Given the description of an element on the screen output the (x, y) to click on. 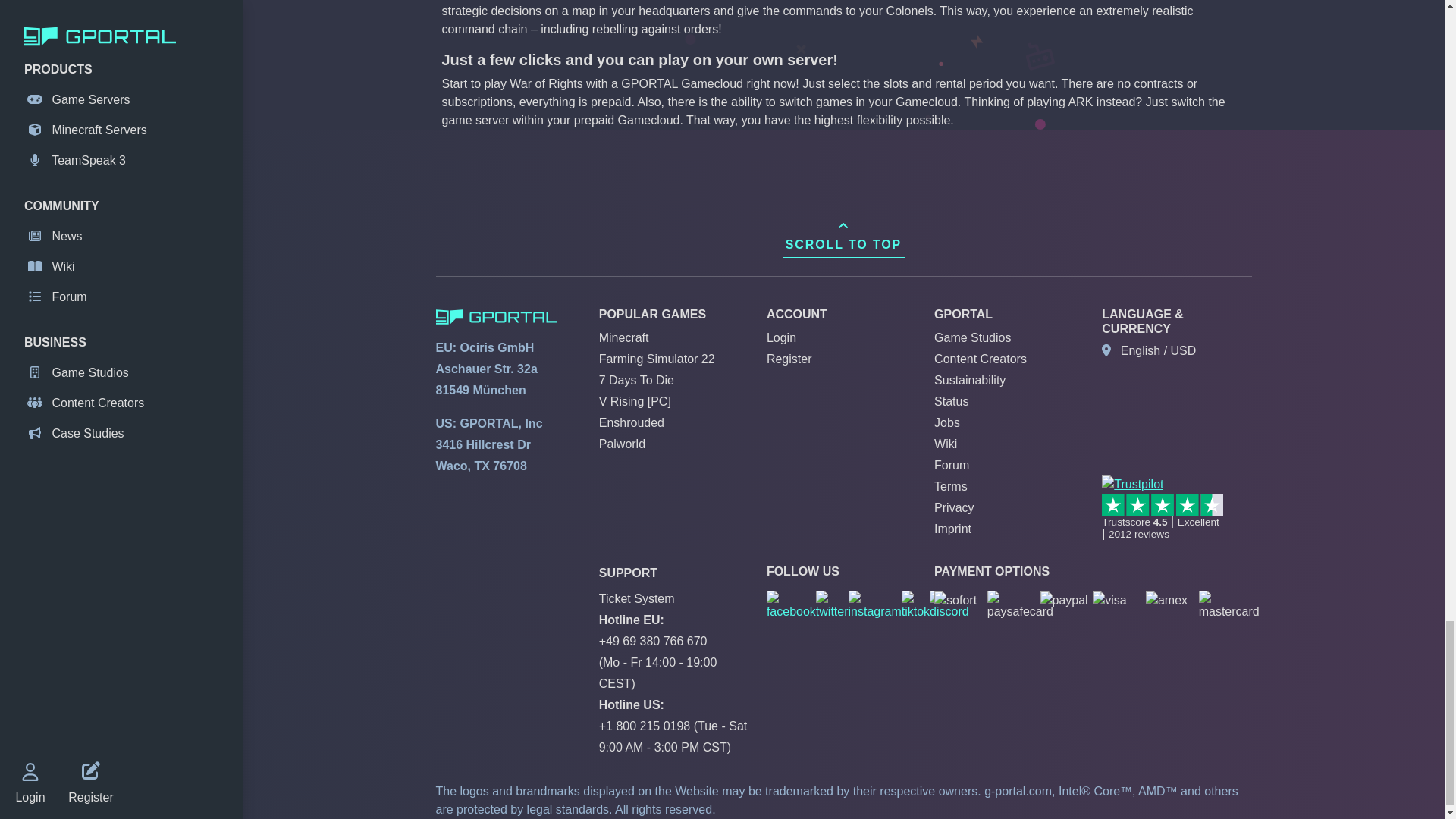
Farming Simulator 22 (656, 358)
SCROLL TO TOP (843, 235)
Minecraft (623, 337)
Register (789, 358)
Enshrouded (630, 422)
SCROLL TO TOP (843, 235)
7 Days To Die (636, 379)
Palworld (621, 443)
